Given the description of an element on the screen output the (x, y) to click on. 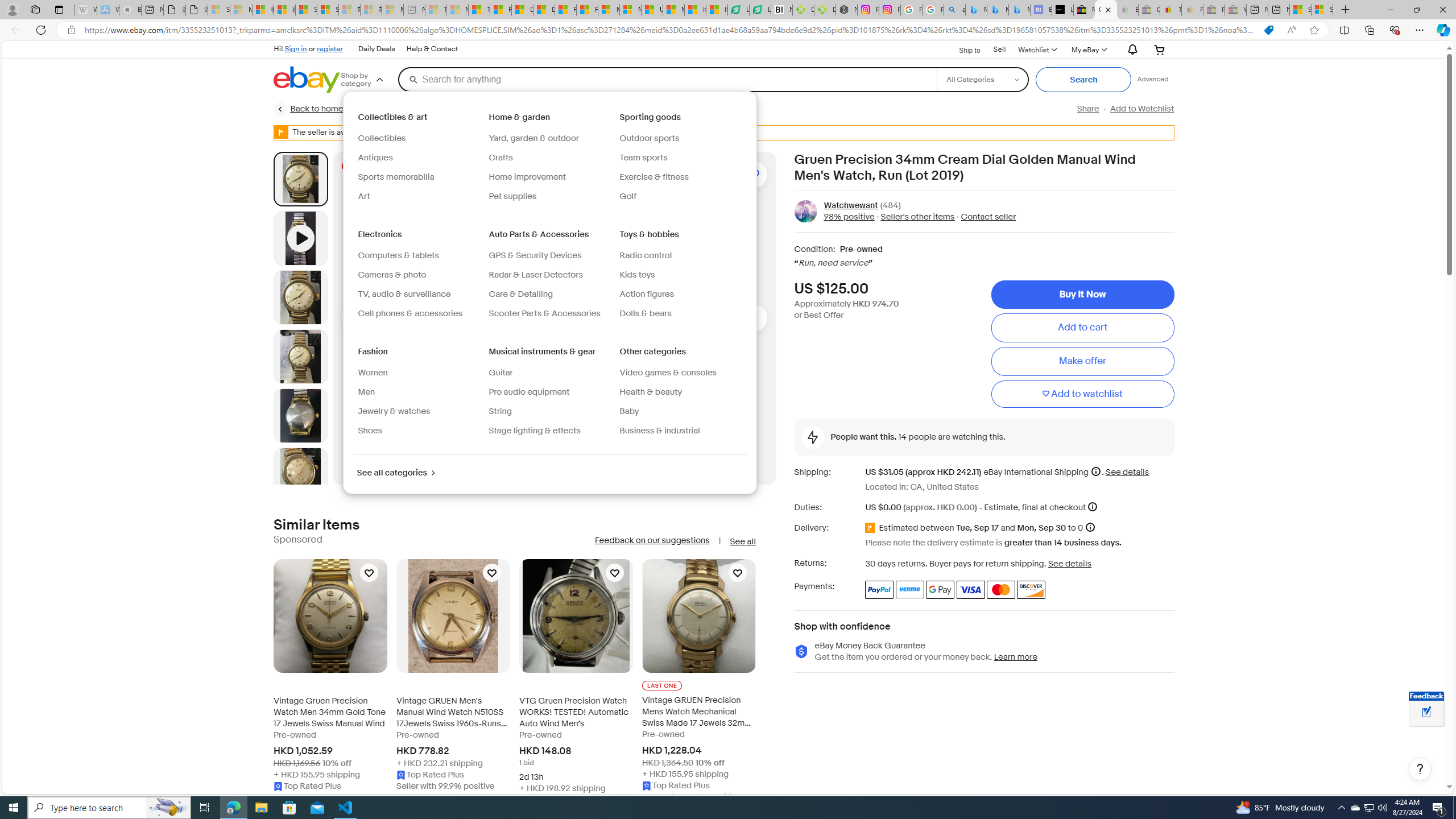
Picture 4 of 13 (300, 415)
Baby (679, 411)
Guitar (549, 372)
Jewelry & Watches (411, 108)
You have the best price! Shopping in Microsoft Edge (1268, 29)
Home & garden (520, 117)
Shoes (418, 430)
Home improvement (549, 176)
Pet supplies (512, 196)
Stage lighting & effects (549, 430)
Next image - Item images thumbnails (753, 318)
Kids toys (679, 275)
